Given the description of an element on the screen output the (x, y) to click on. 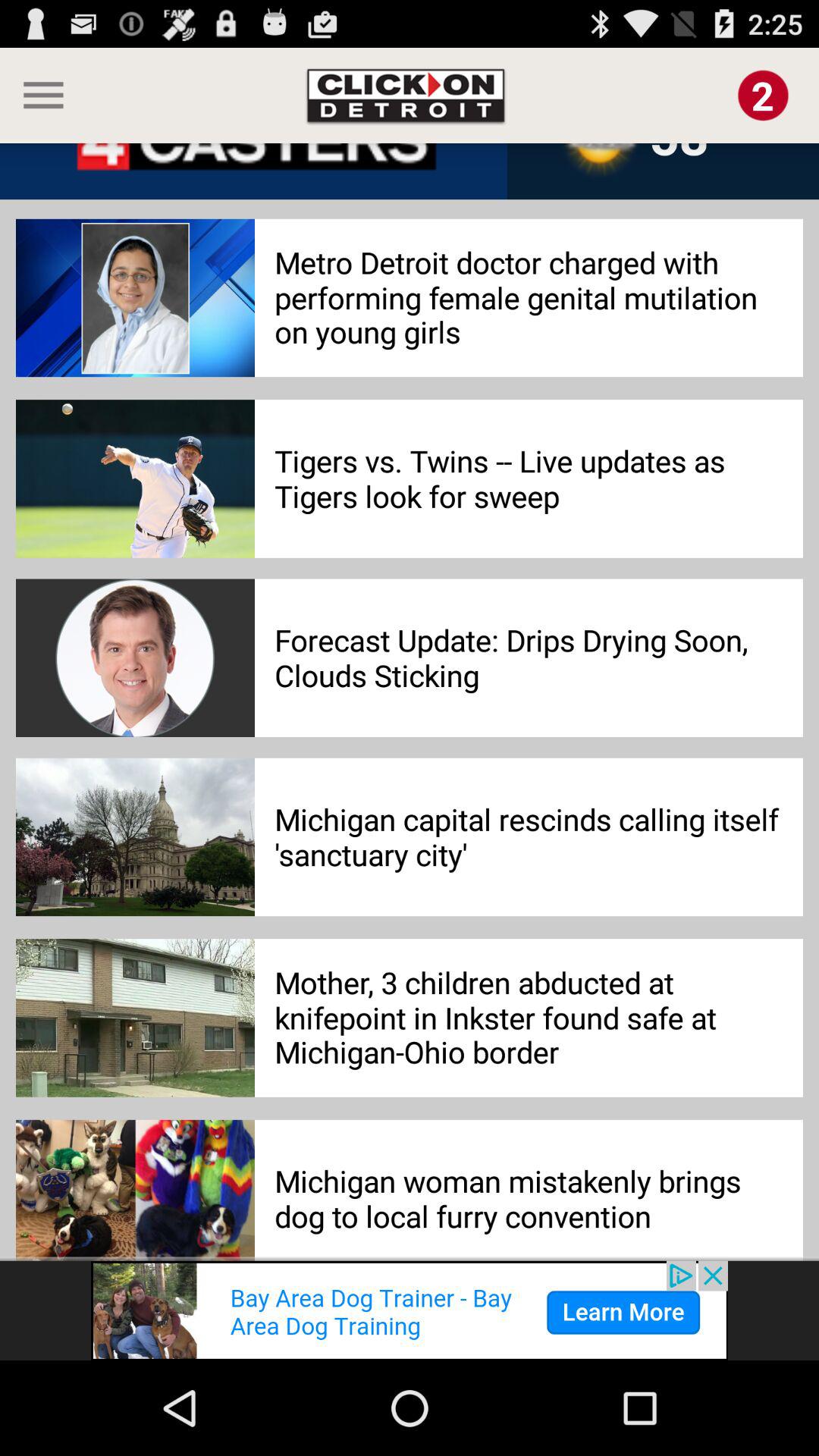
click on the third image (135, 657)
select the number next to the title (762, 95)
click on the fourth image in the page (134, 836)
